Given the description of an element on the screen output the (x, y) to click on. 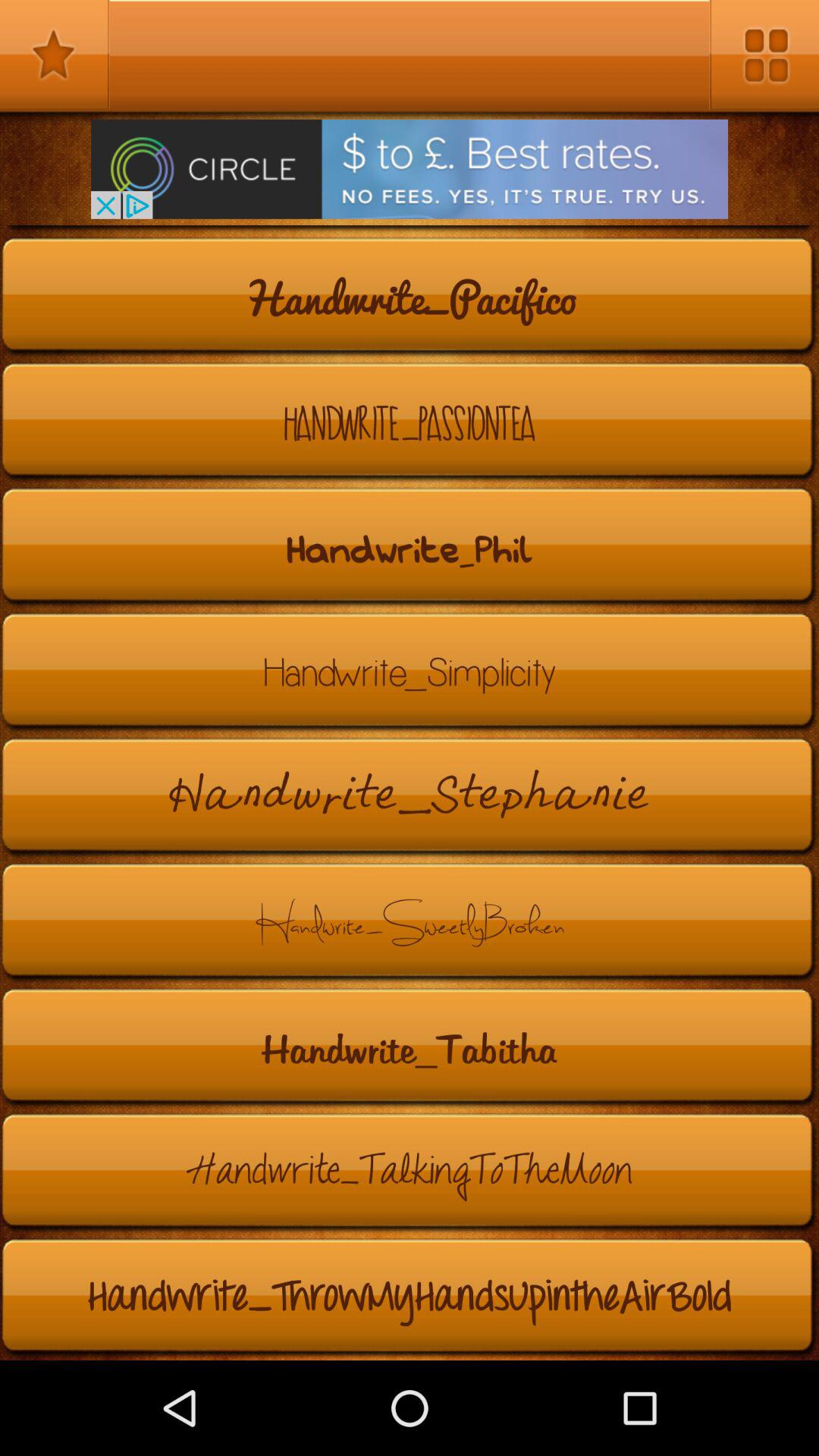
goes to menu (764, 54)
